Given the description of an element on the screen output the (x, y) to click on. 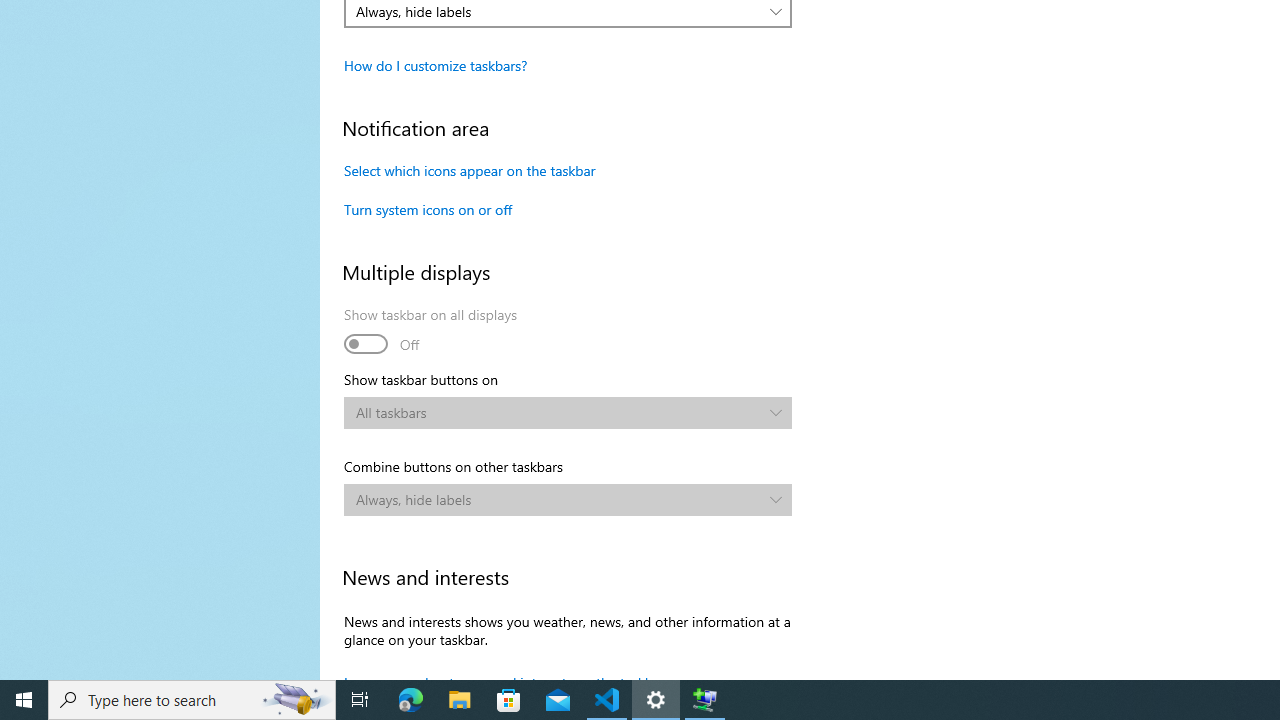
Extensible Wizards Host Process - 1 running window (704, 699)
All taskbars (557, 412)
Turn system icons on or off (428, 209)
